Given the description of an element on the screen output the (x, y) to click on. 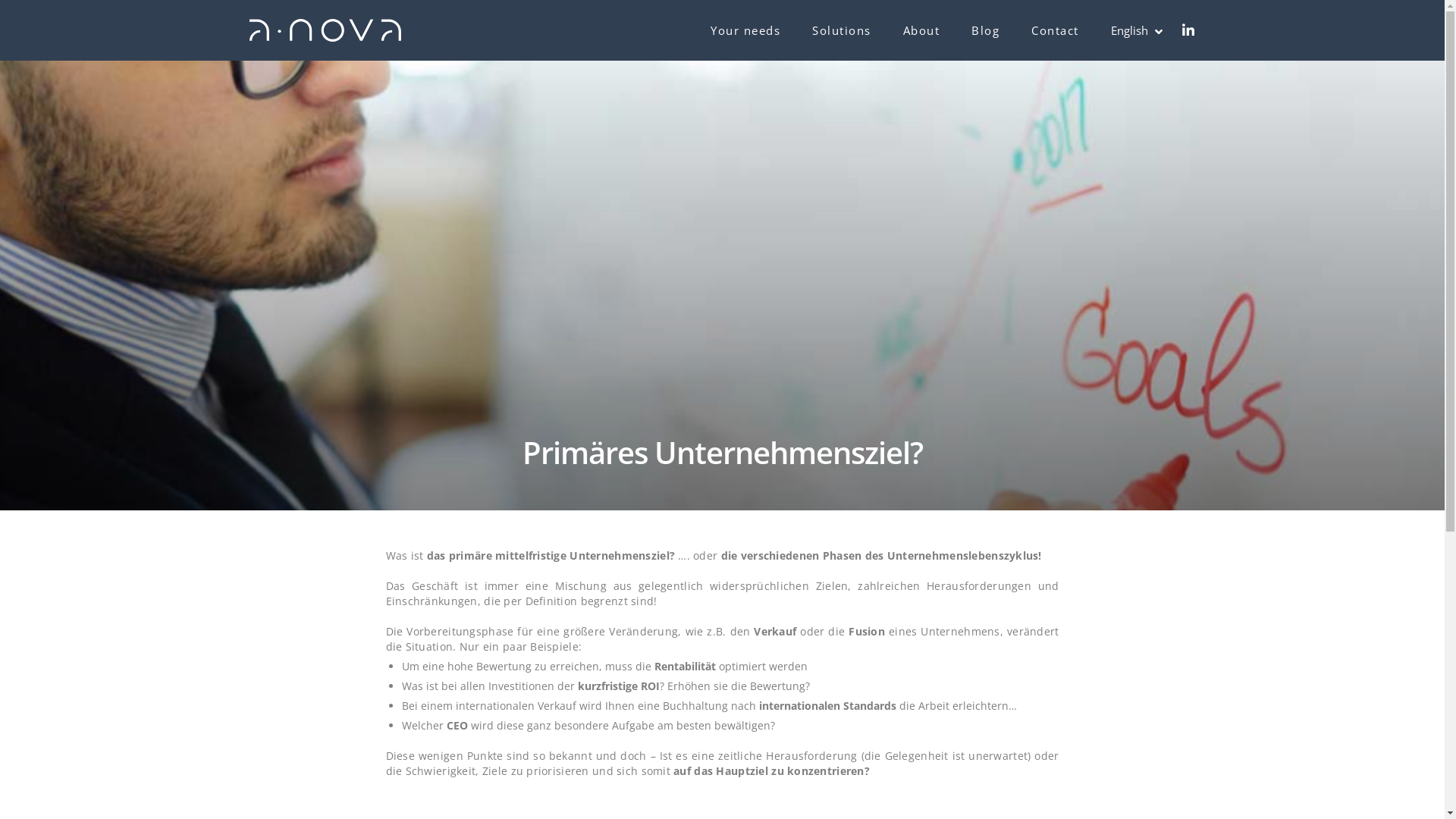
Blog Element type: text (985, 30)
Solutions Element type: text (841, 30)
Devenir manager de transition,rejoindre a-nova Element type: text (369, 691)
Would you like to increase the value of your business Element type: text (837, 544)
Home Element type: text (506, 521)
+41 79 438 78 16 Element type: text (319, 610)
Your needs Element type: text (745, 30)
Nous contacter Element type: text (1020, 572)
Contact Element type: text (511, 645)
info@a-nova.ch Element type: text (318, 649)
Free eBook: 8 Ways To Re-Invent Yourself In A Crisis Element type: text (827, 620)
Your needs Element type: text (520, 546)
Blog Element type: text (503, 621)
About Element type: text (507, 596)
Solutions Element type: text (515, 571)
Contact Element type: text (1055, 30)
About Element type: text (921, 30)
